Given the description of an element on the screen output the (x, y) to click on. 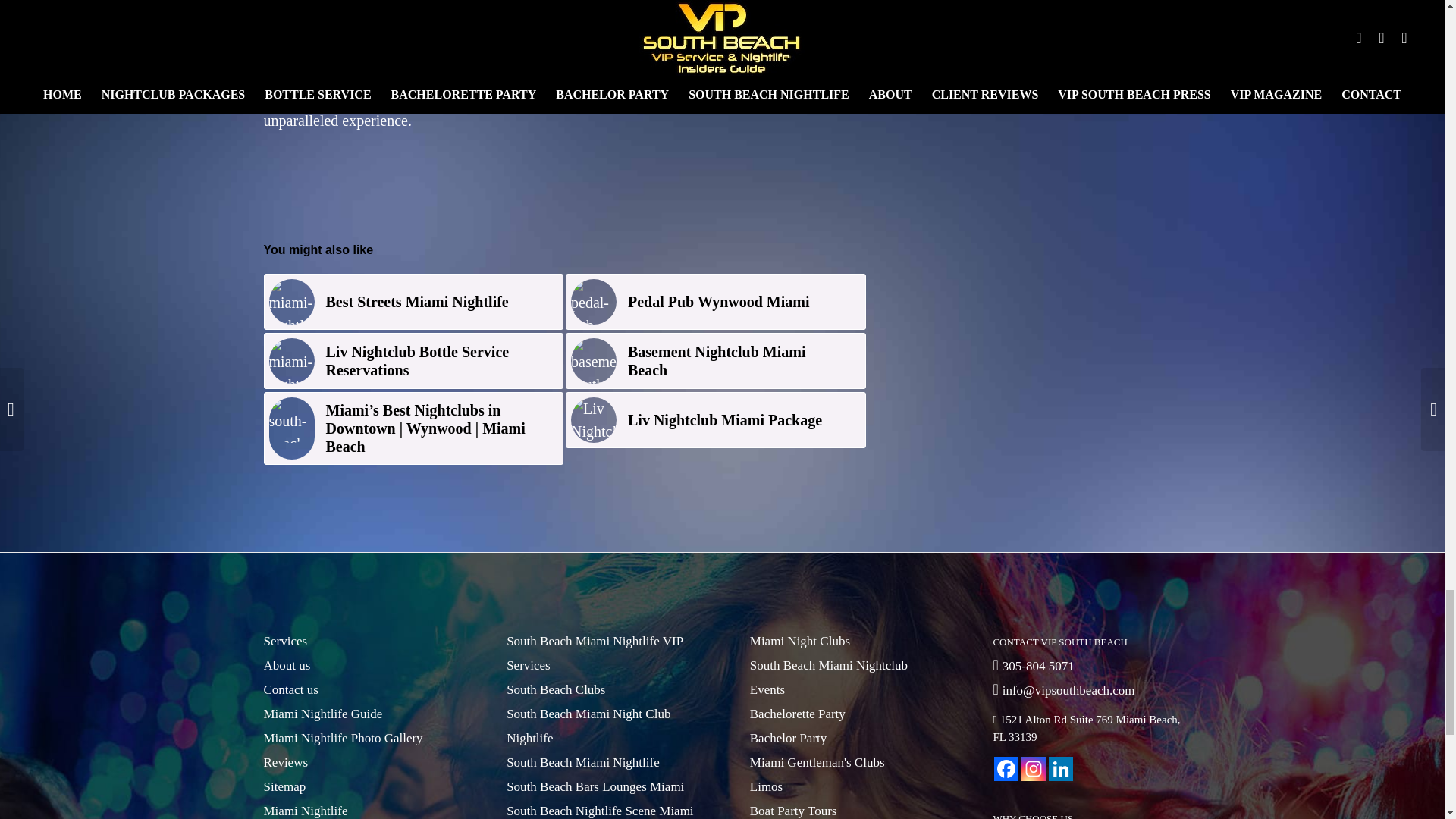
Liv Nightclub Miami Package (716, 419)
Best Streets Miami Nightlife (413, 301)
Miami Nightlife (290, 301)
Pedal Pub Wynwood Miami (716, 301)
Miami Nightclubs (290, 361)
Pedal Pub Wynwood Miami (716, 301)
Basement Nightclub Miami Beach (716, 360)
Basement Nightclub Miami Beach (716, 360)
Liv Nightclub Bottle Service Reservations (413, 360)
Pedal Pub Miami (592, 301)
Liv Nightclub Bottle Service Reservations (413, 360)
Best Streets Miami Nightlife (413, 301)
